Given the description of an element on the screen output the (x, y) to click on. 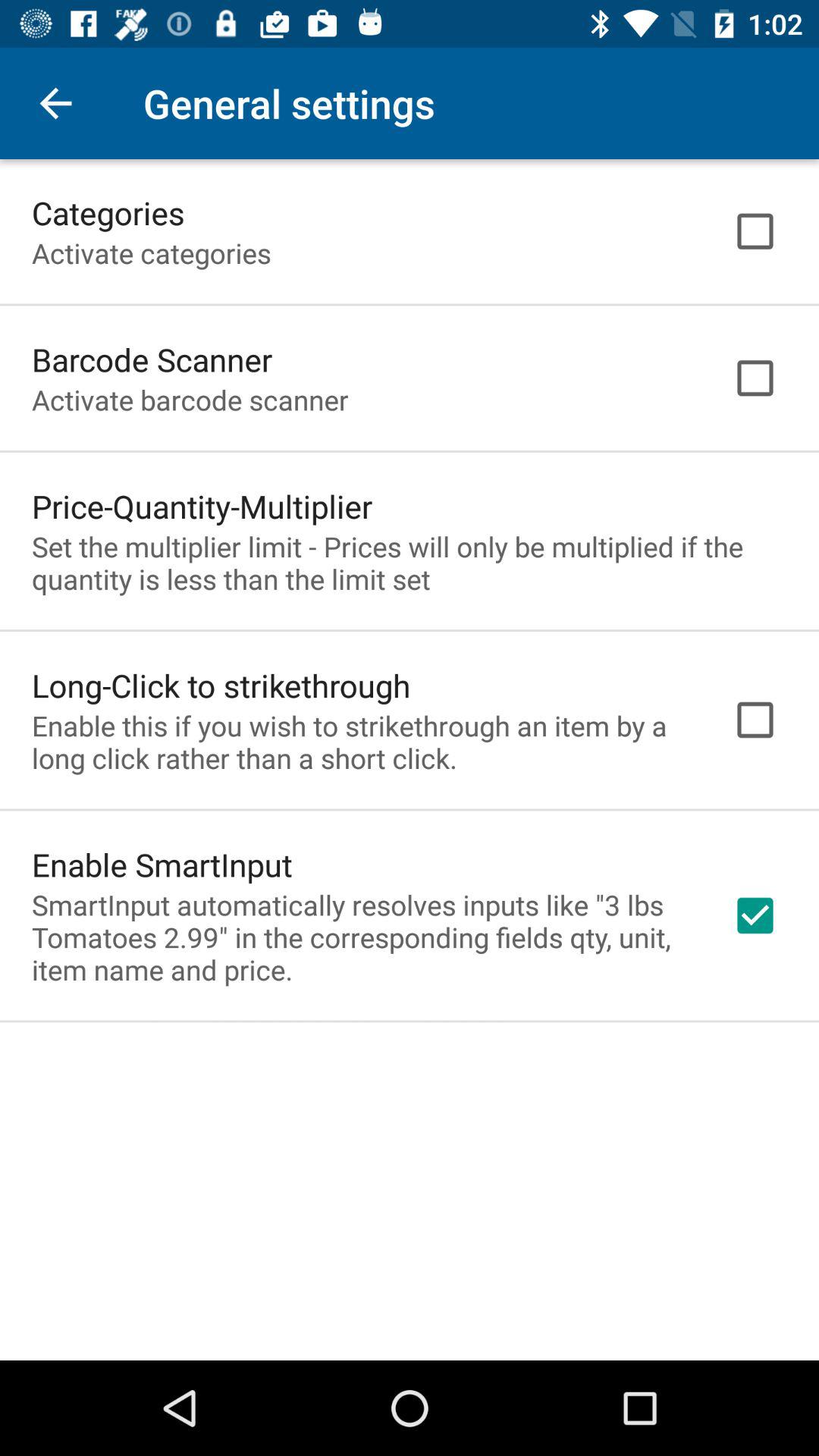
tap the icon above long click to item (409, 562)
